Given the description of an element on the screen output the (x, y) to click on. 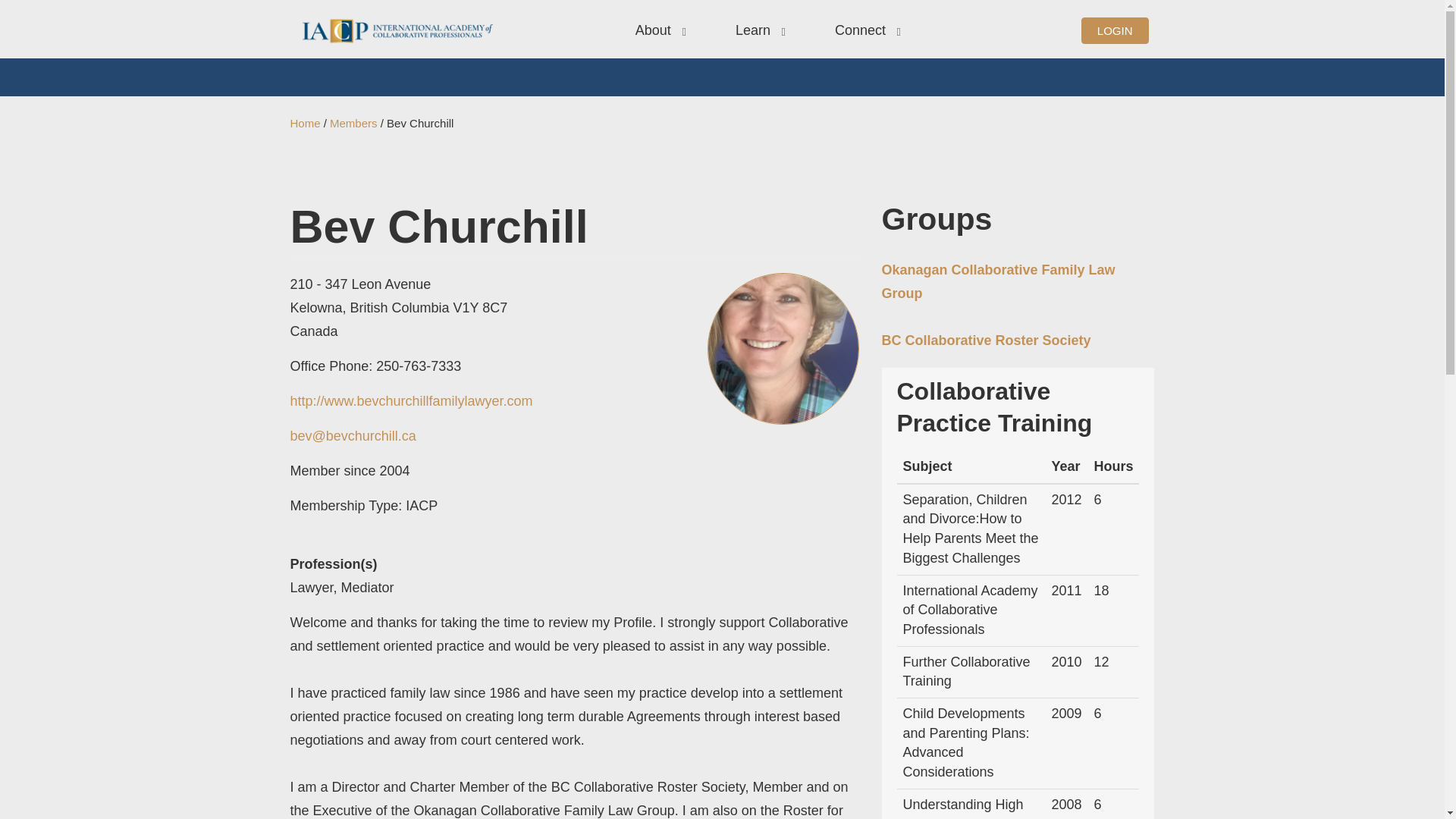
Members (353, 123)
BC Collaborative Roster Society (985, 340)
IACP (396, 30)
Home (396, 30)
LOGIN (1114, 30)
Okanagan Collaborative Family Law Group (997, 281)
Home (304, 123)
